Given the description of an element on the screen output the (x, y) to click on. 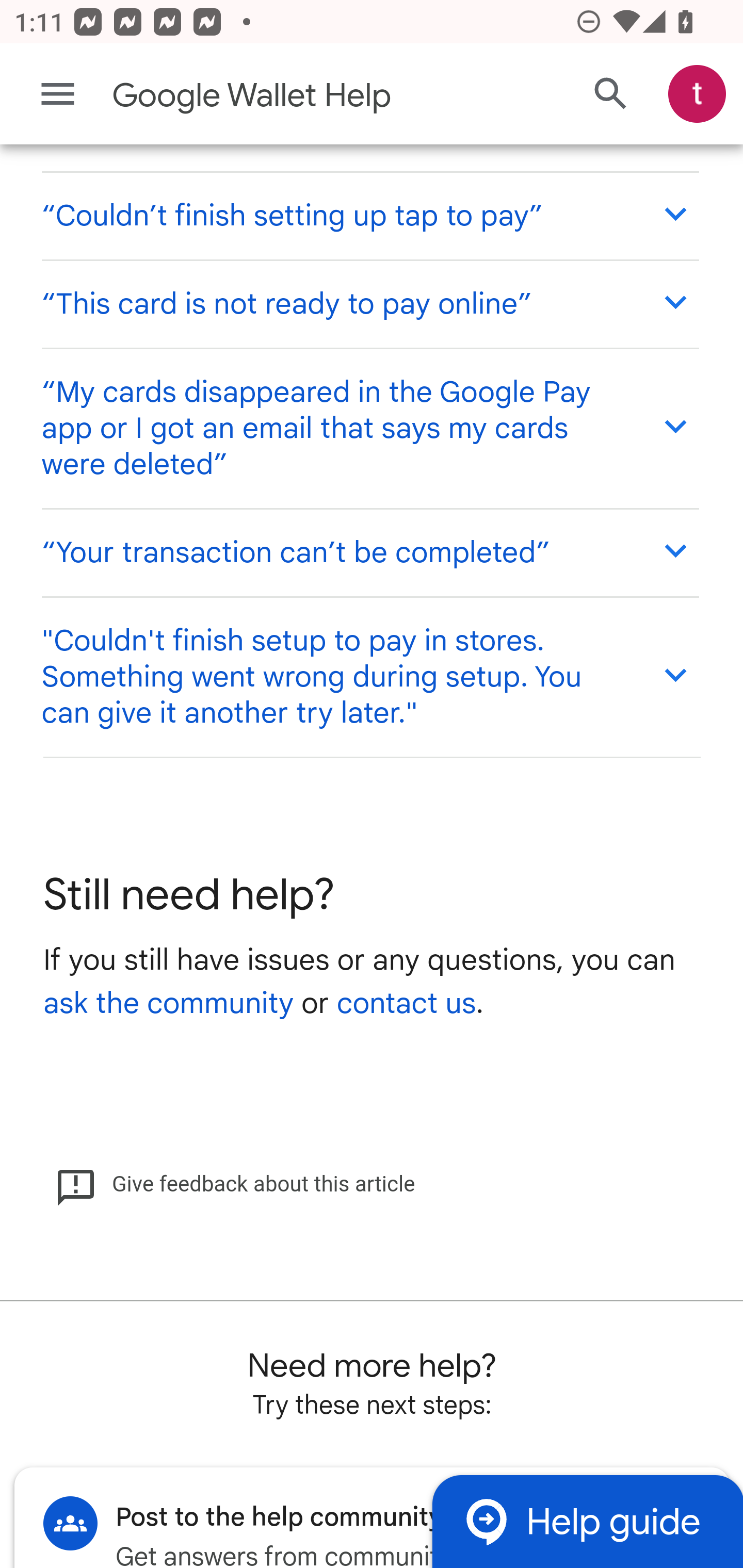
Main menu (58, 94)
Google Wallet Help (292, 96)
Search Help Center (611, 94)
“Couldn’t finish setting up tap to pay” (369, 215)
“This card is not ready to pay online” (369, 304)
“Your transaction can’t be completed” (369, 553)
ask the community (168, 1005)
contact us (406, 1005)
Give feedback about this article (235, 1186)
Help guide (587, 1522)
